Given the description of an element on the screen output the (x, y) to click on. 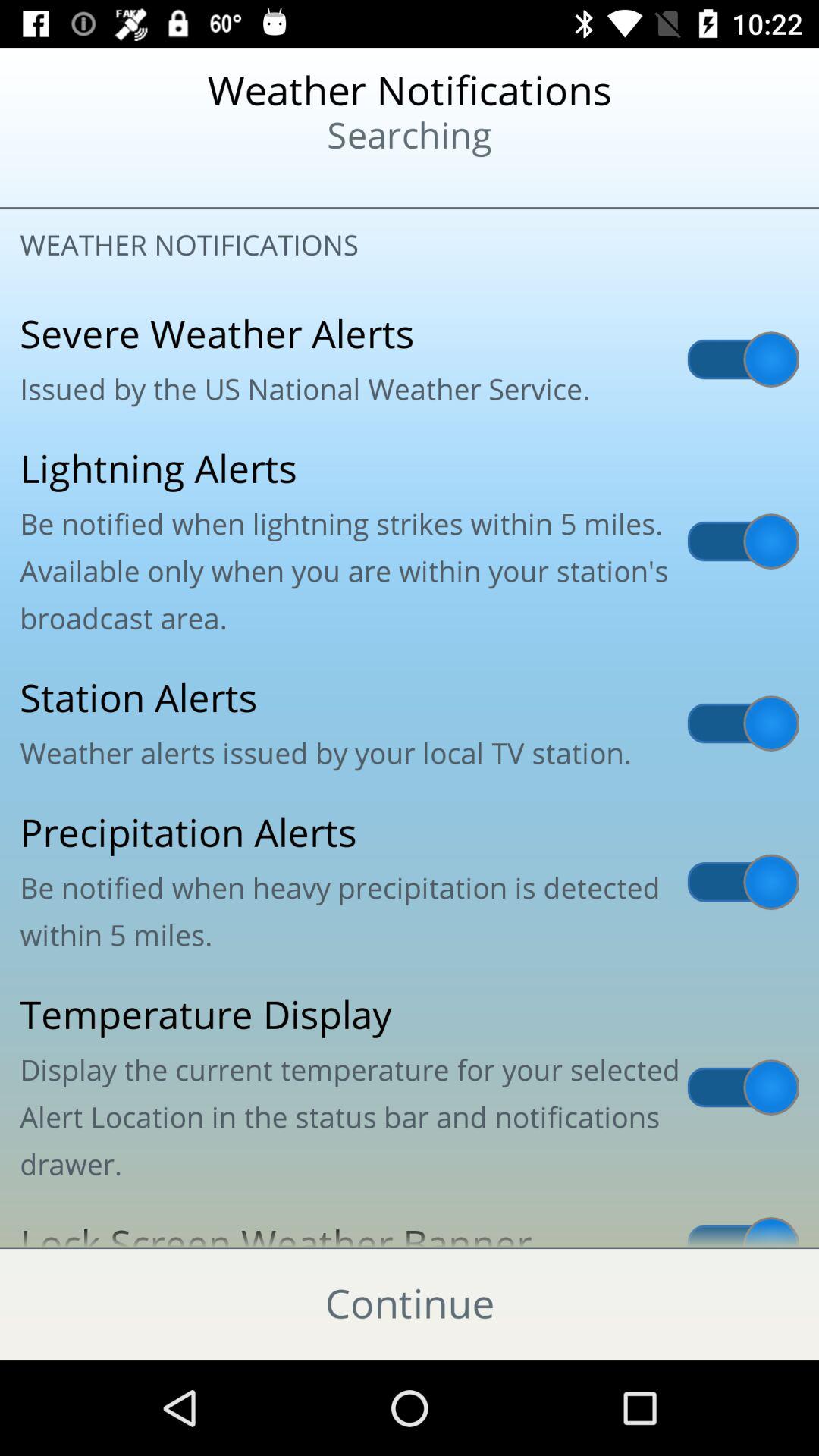
open icon below precipitation alerts be (409, 1087)
